Given the description of an element on the screen output the (x, y) to click on. 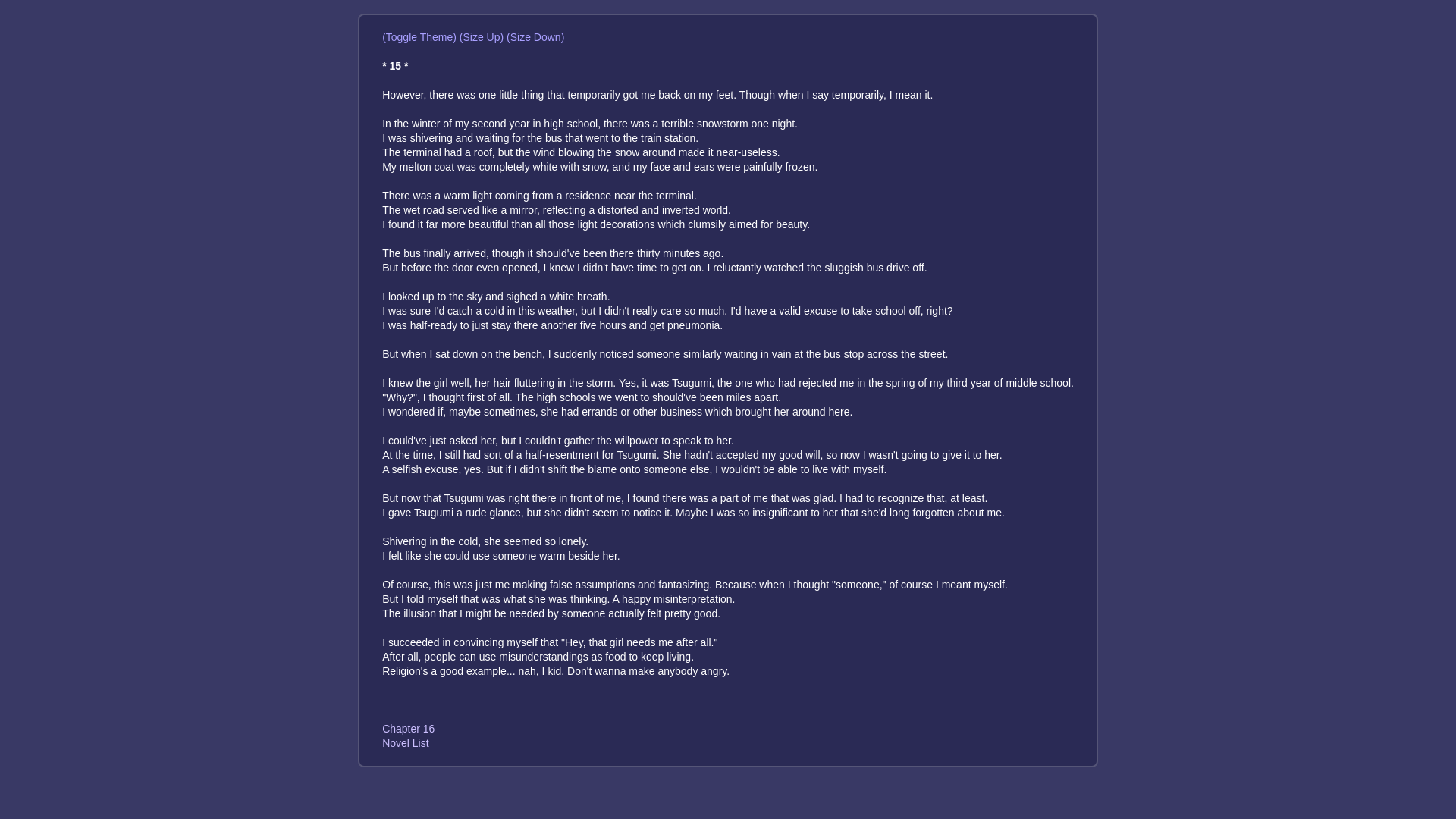
Chapter 16 (407, 728)
Novel List (404, 743)
